Given the description of an element on the screen output the (x, y) to click on. 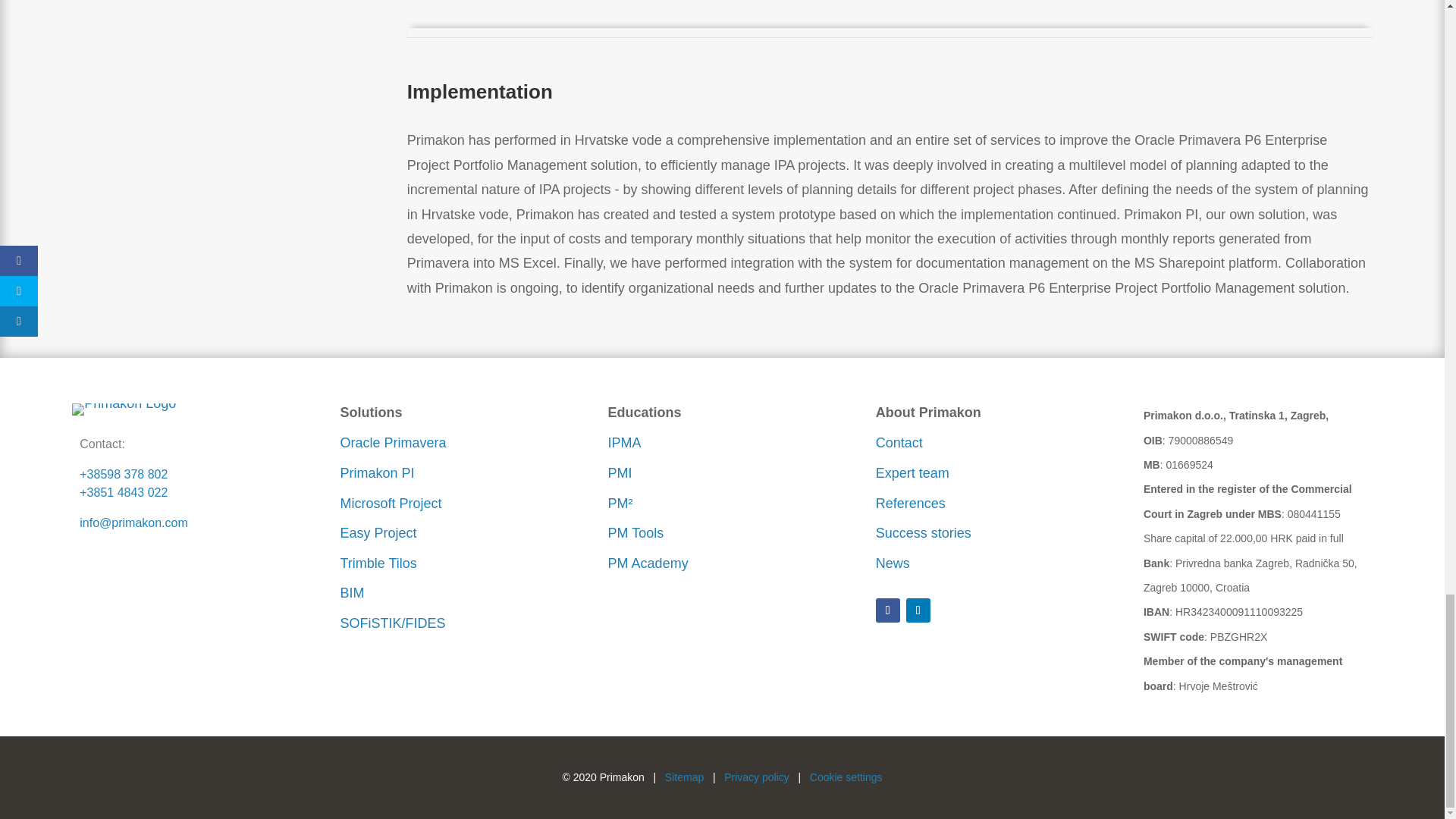
Follow on Facebook (887, 610)
Follow on LinkedIn (917, 610)
novi stari (123, 409)
